Given the description of an element on the screen output the (x, y) to click on. 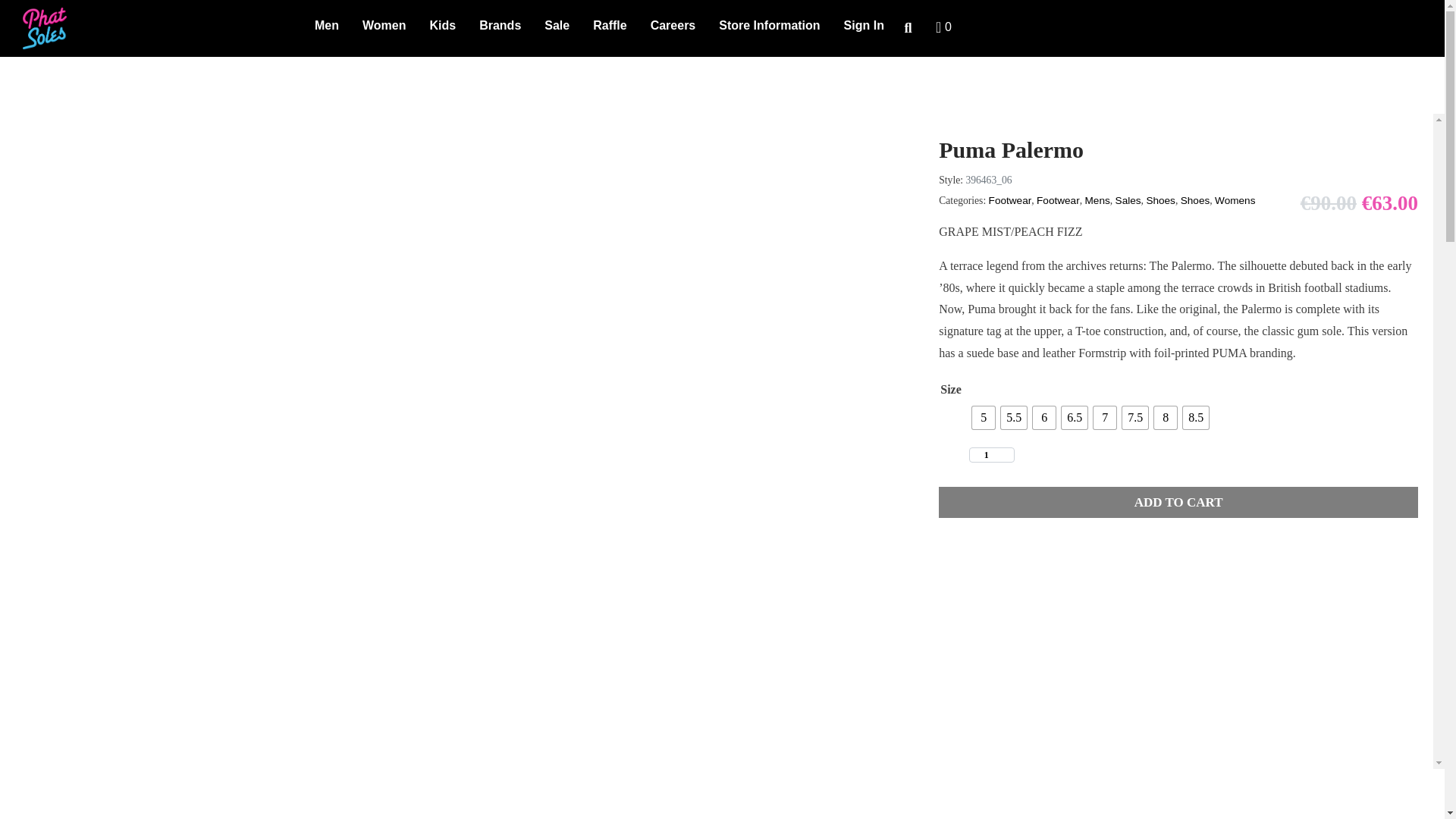
Women (387, 27)
5 (983, 417)
1 (991, 454)
Kids (446, 27)
6.5 (1074, 417)
Brands (504, 27)
5.5 (1013, 417)
6 (1043, 417)
Men (330, 27)
